Given the description of an element on the screen output the (x, y) to click on. 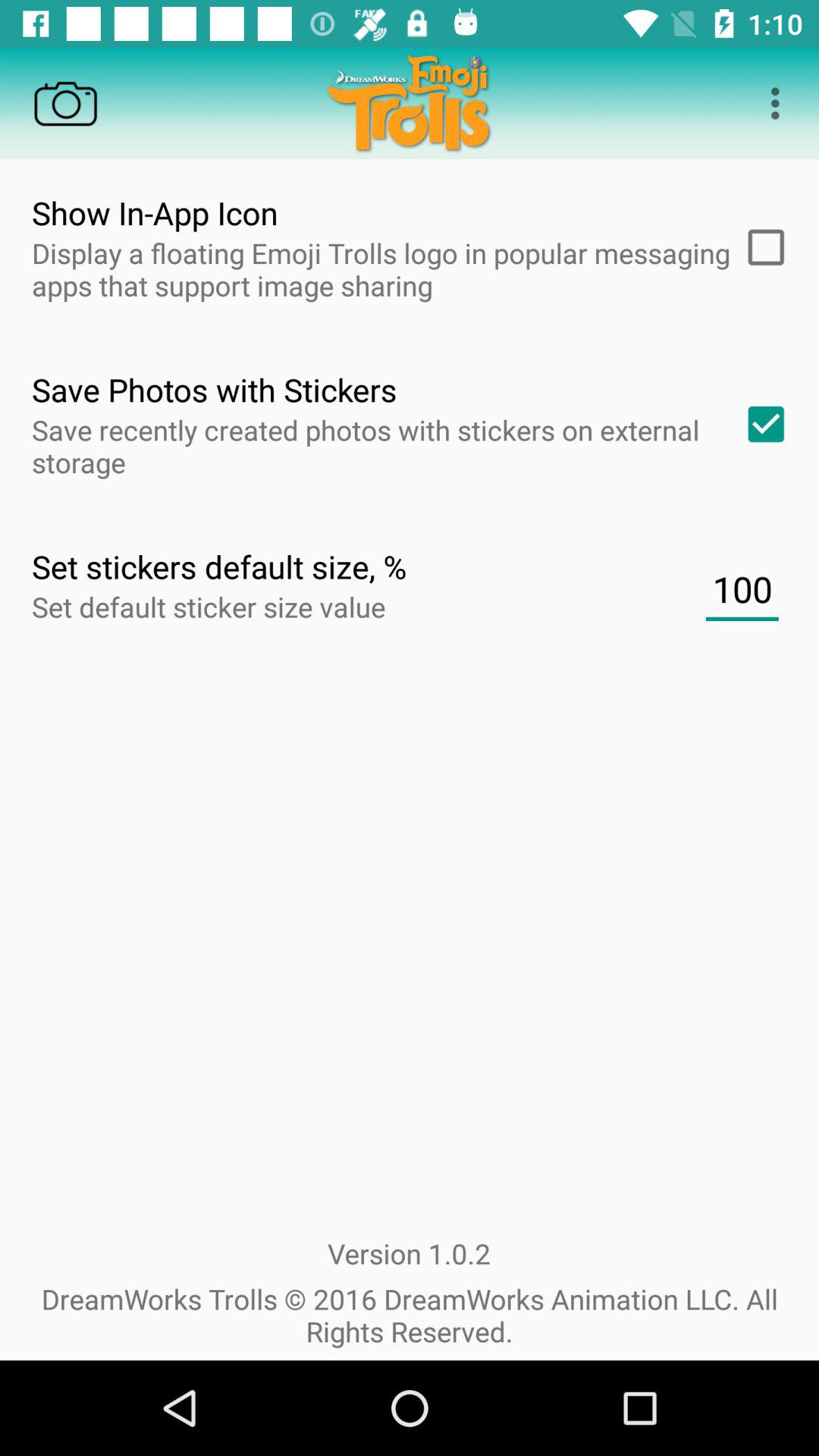
go to camera (65, 103)
